Given the description of an element on the screen output the (x, y) to click on. 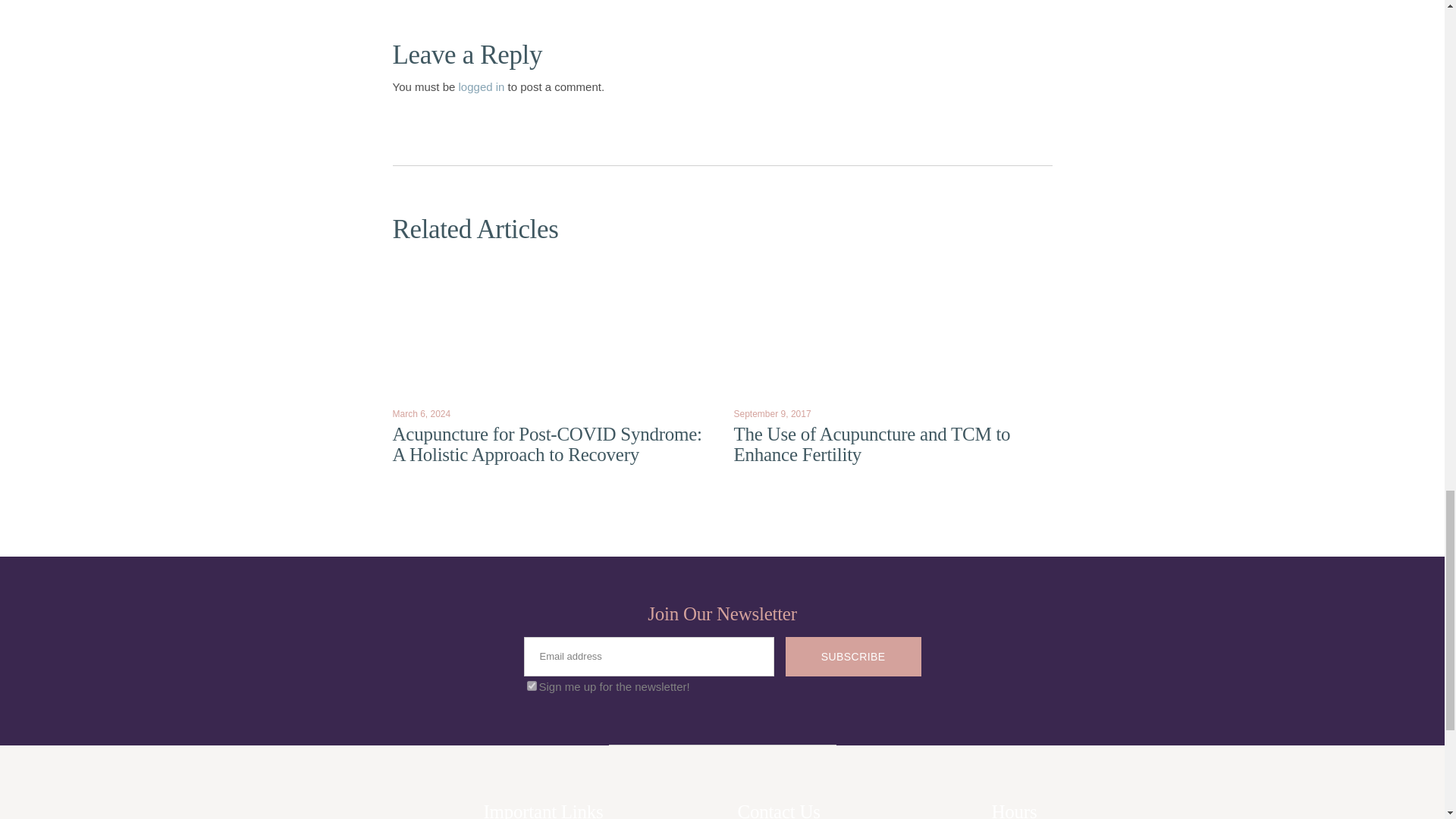
1 (530, 685)
